Given the description of an element on the screen output the (x, y) to click on. 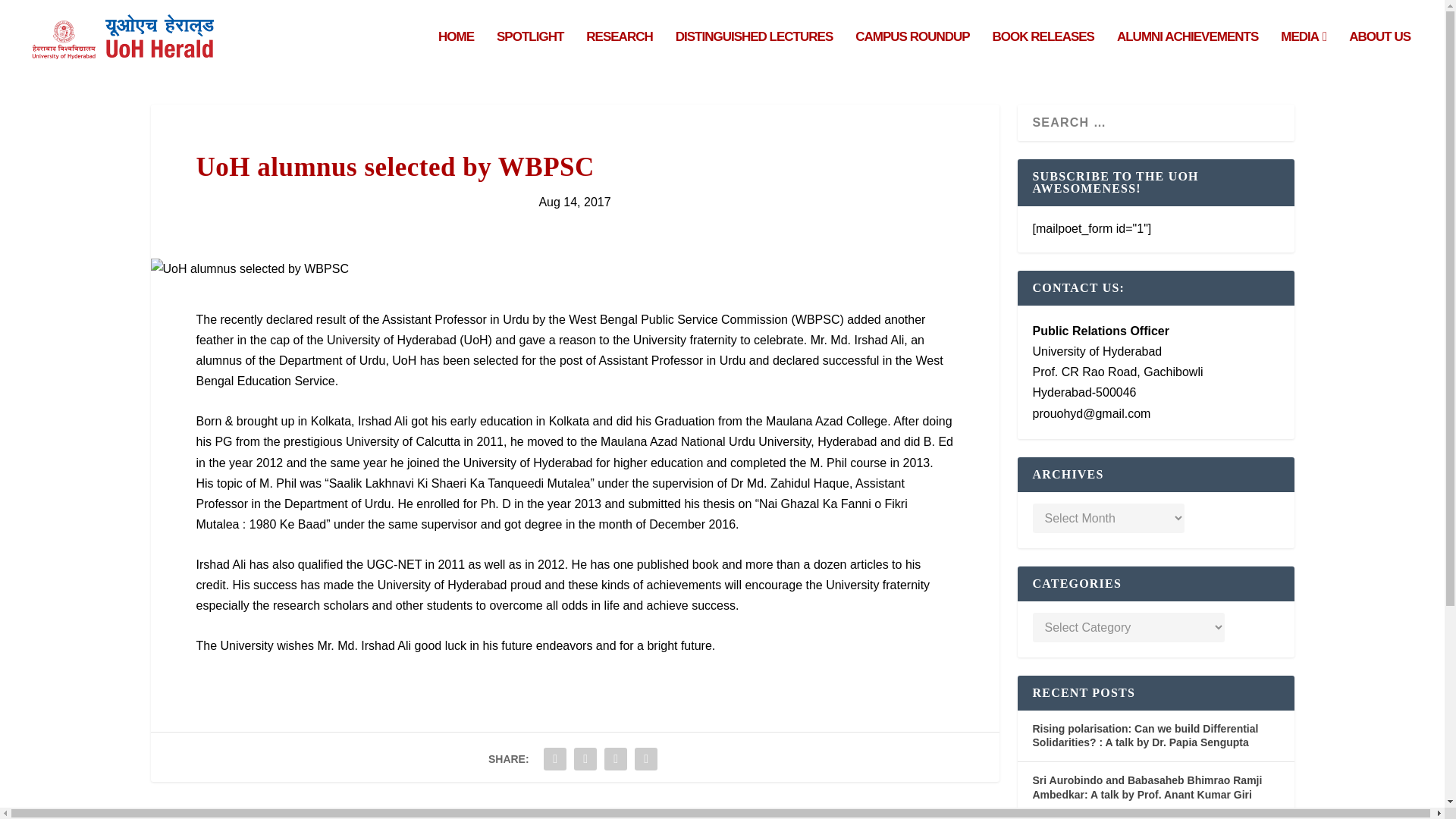
BOOK RELEASES (1043, 52)
Search (34, 14)
DISTINGUISHED LECTURES (753, 52)
Share "UoH alumnus selected by WBPSC" via Email (645, 758)
Share "UoH alumnus selected by WBPSC" via Twitter (584, 758)
ALUMNI ACHIEVEMENTS (1186, 52)
MEDIA (1303, 52)
Share "UoH alumnus selected by WBPSC" via Facebook (555, 758)
